Given the description of an element on the screen output the (x, y) to click on. 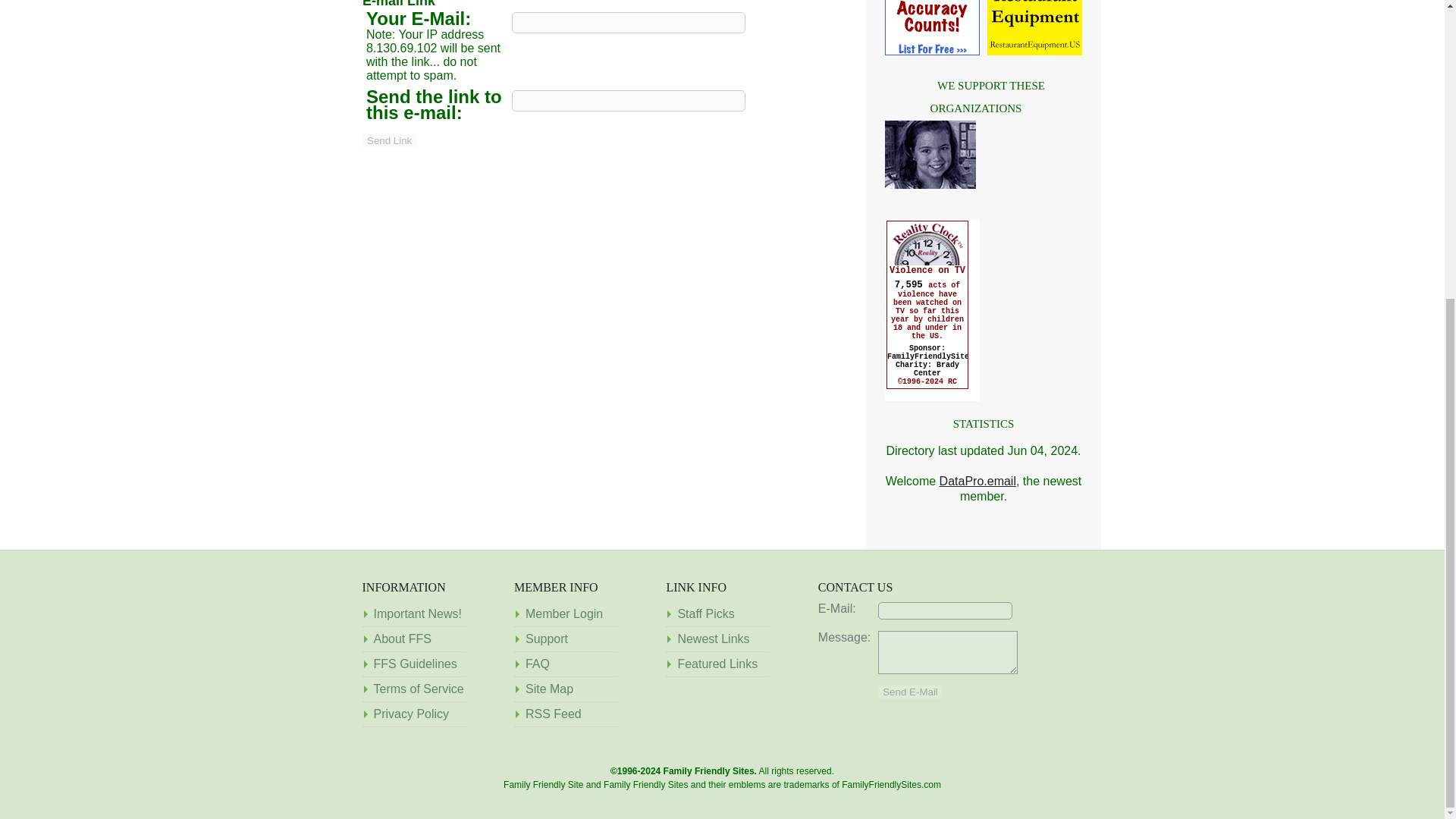
Send Link (389, 140)
FFS Guidelines (414, 663)
Staff Picks (705, 613)
About FFS (401, 638)
Member Login (563, 613)
Privacy Policy (410, 713)
FAQ (537, 663)
Important News! (416, 613)
RSS Feed (552, 713)
Support (546, 638)
